Given the description of an element on the screen output the (x, y) to click on. 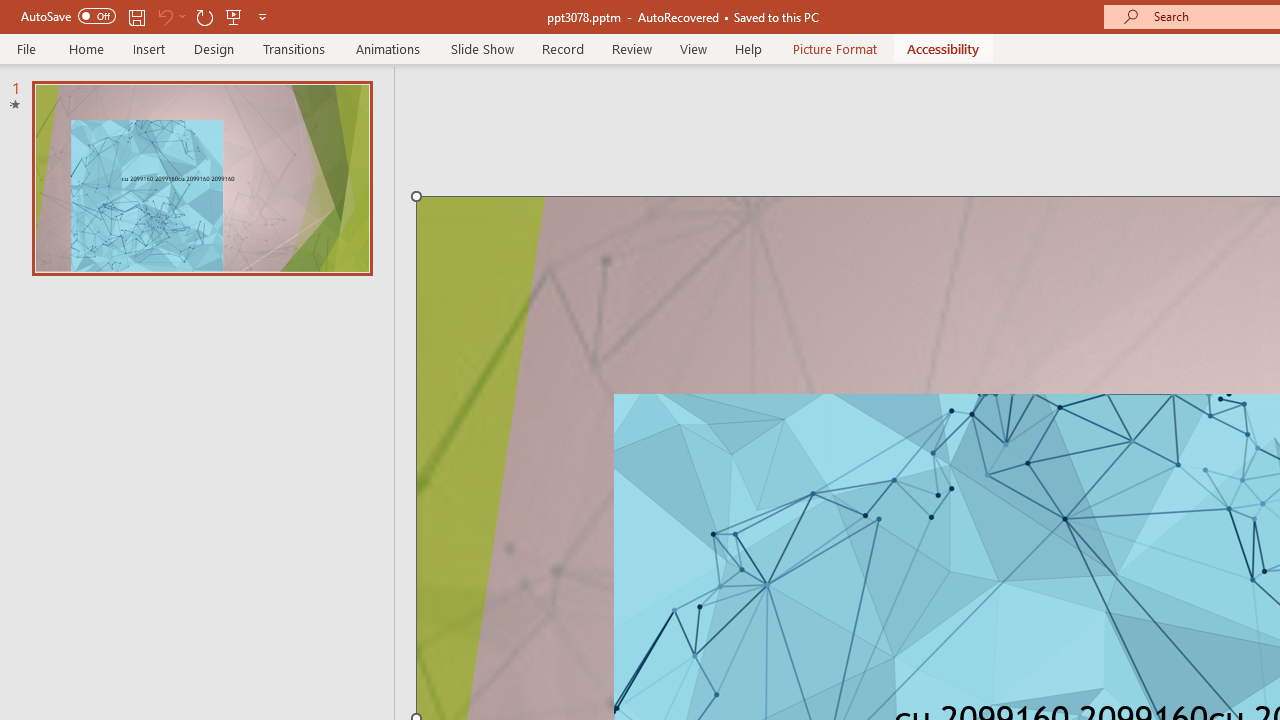
Picture Format (834, 48)
